Given the description of an element on the screen output the (x, y) to click on. 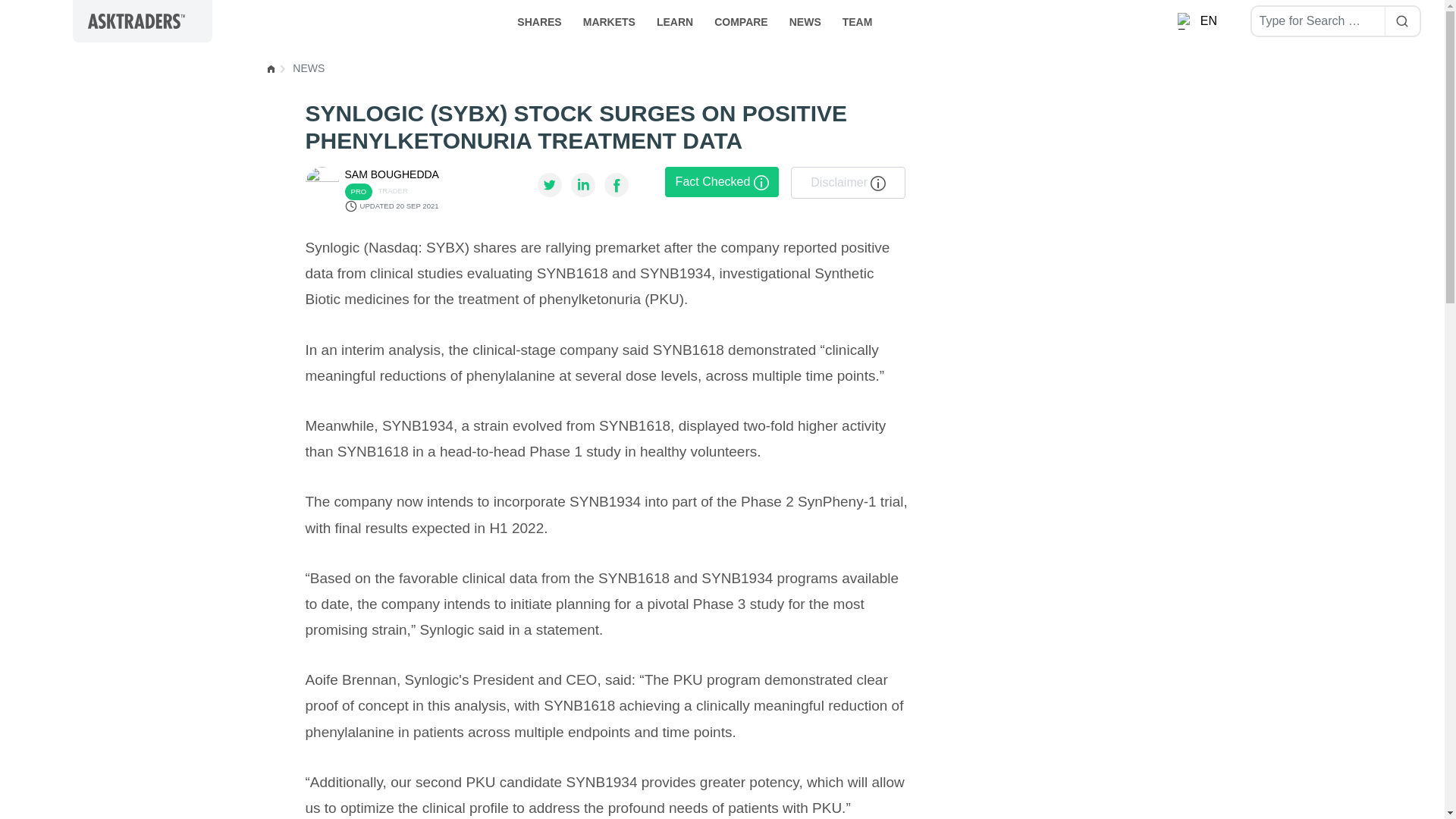
NEWS (804, 20)
SHARES (539, 20)
EN (1198, 21)
COMPARE (740, 20)
LEARN (674, 20)
MARKETS (609, 20)
